Given the description of an element on the screen output the (x, y) to click on. 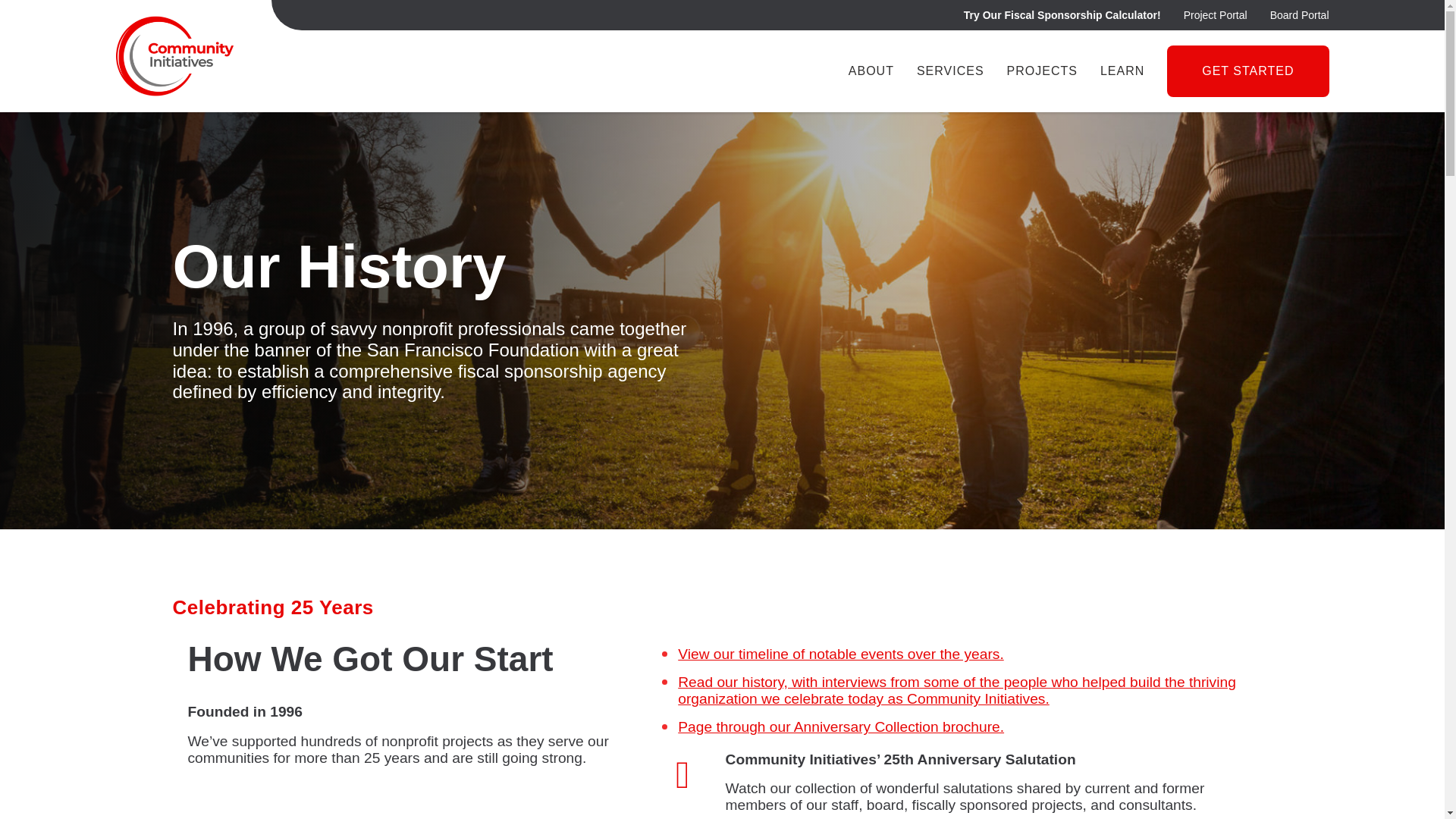
GET STARTED (1247, 71)
Project Portal (1215, 15)
PROJECTS (1042, 71)
SERVICES (950, 71)
View our timeline of notable events over the years. (840, 653)
Try Our Fiscal Sponsorship Calculator! (1061, 15)
Page through our Anniversary Collection brochure. (841, 726)
Board Portal (1299, 15)
